Given the description of an element on the screen output the (x, y) to click on. 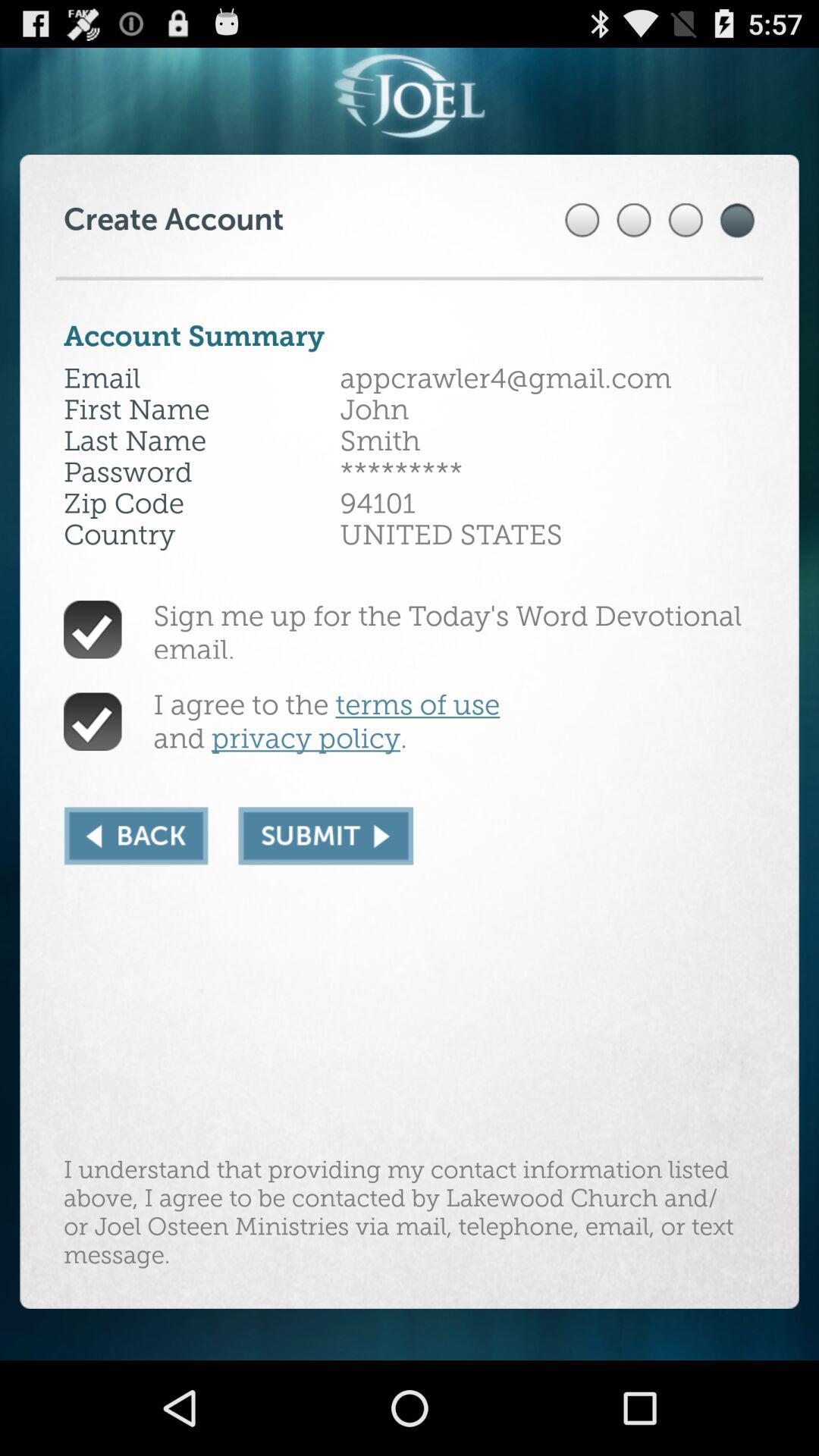
check to indicate agreement for app terms of usage (92, 721)
